Given the description of an element on the screen output the (x, y) to click on. 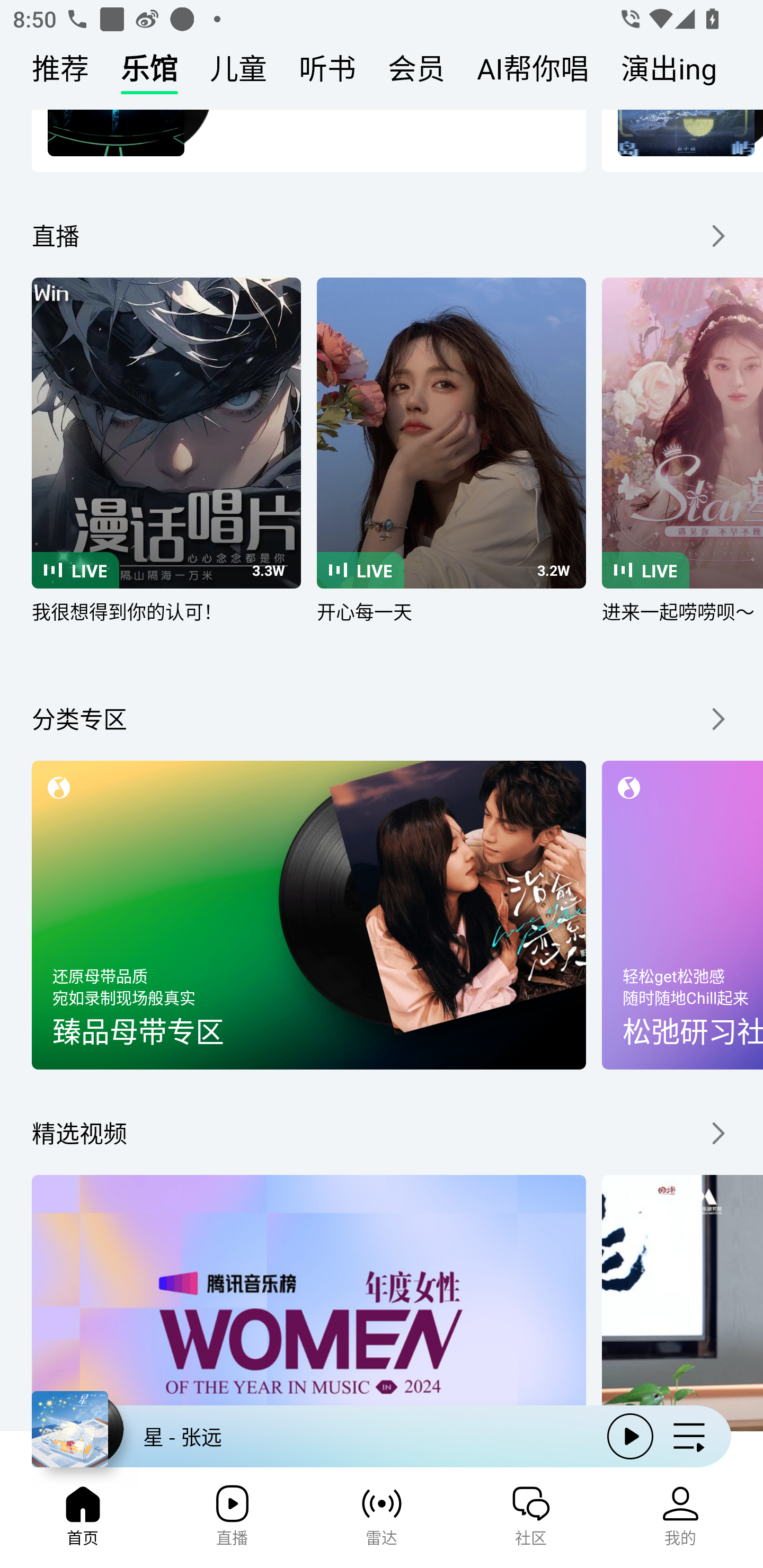
推荐 (60, 73)
乐馆 (149, 73)
儿童 (238, 73)
听书 (327, 73)
会员 (416, 73)
AI帮你唱 (532, 73)
演出ing (668, 73)
直播 (55, 235)
更多 (716, 235)
3.3W (166, 432)
3.2W (450, 432)
分类专区 (79, 718)
更多 (716, 718)
臻品母带专区. 还原母带品质，宛如录制现场般真实 还原母带品质 宛如录制现场般真实 臻品母带专区 (308, 914)
臻品母带专区 (308, 1030)
精选视频 (79, 1132)
更多 (716, 1132)
数据解读腾讯音乐榜年度女性. 收听量, 1685 (308, 1303)
星 - 张远 (311, 1435)
播放 (630, 1435)
歌曲队列 (688, 1435)
首页 (82, 1521)
直播 (231, 1521)
雷达 (381, 1521)
社区 (530, 1521)
我的 (680, 1521)
